Given the description of an element on the screen output the (x, y) to click on. 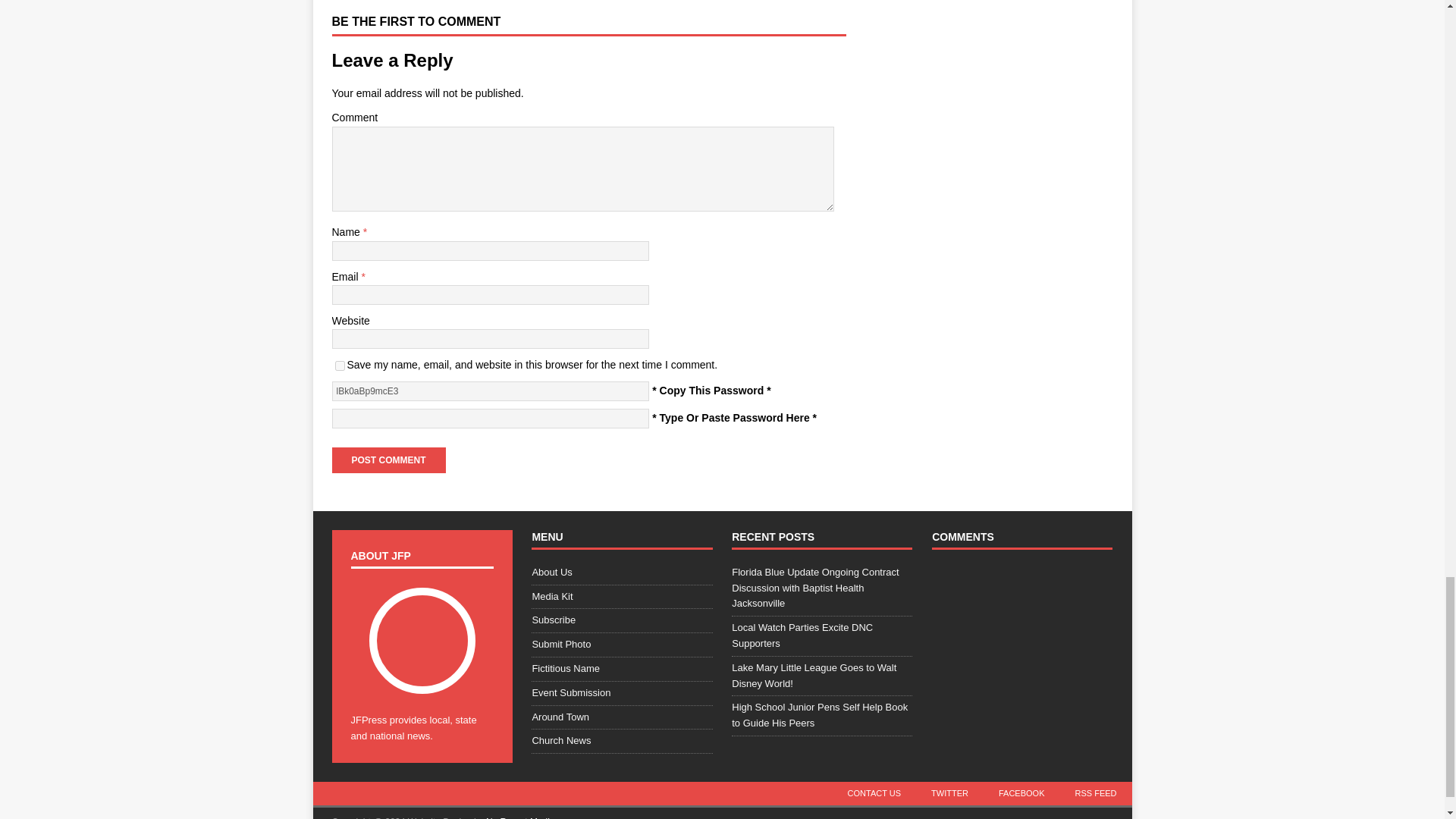
contact (874, 793)
rss (1095, 793)
Facebook (1021, 793)
lBk0aBp9mcE3 (490, 391)
Post Comment (388, 460)
yes (339, 366)
twitter (949, 793)
